Given the description of an element on the screen output the (x, y) to click on. 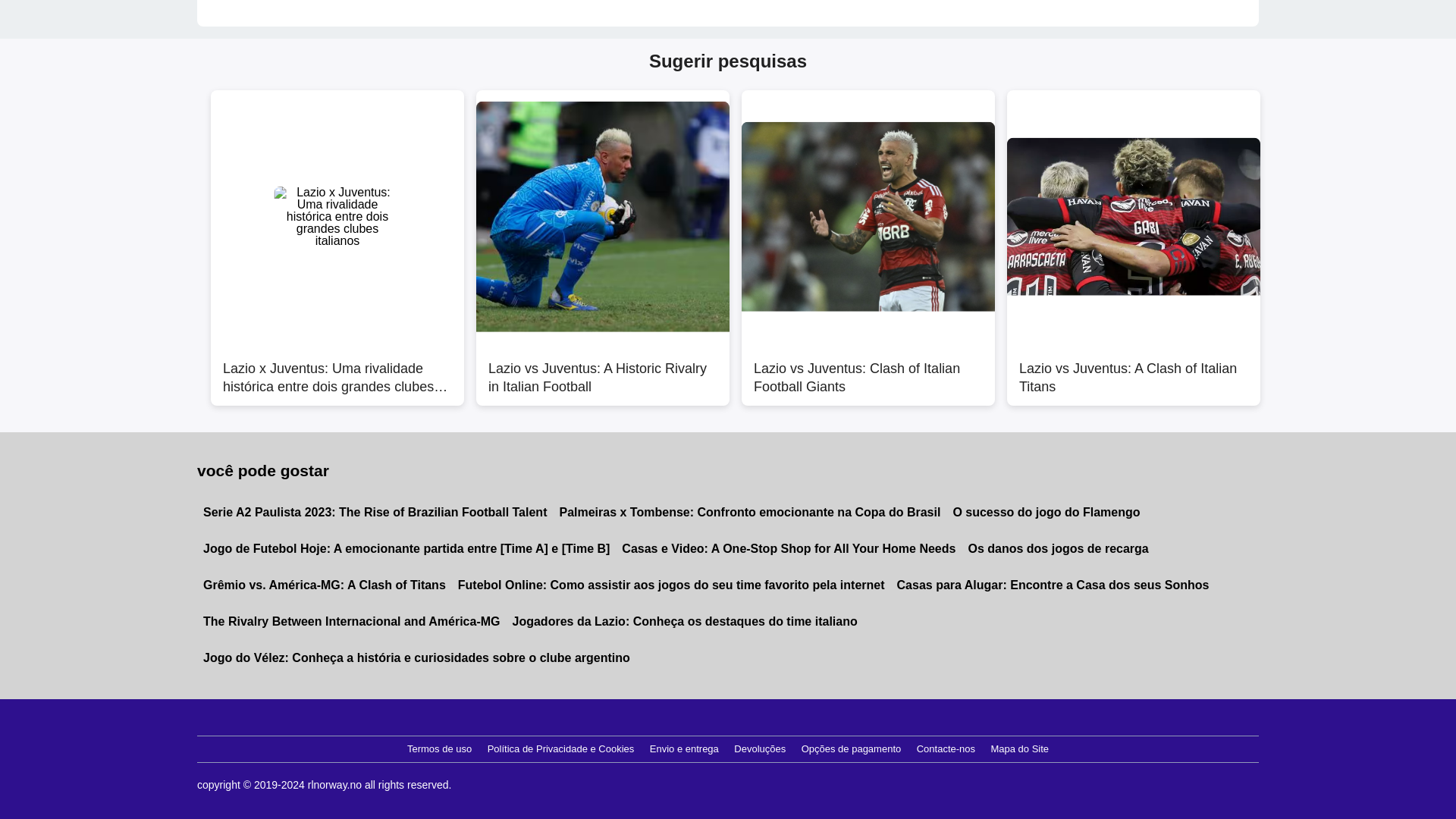
Lazio vs Juventus: Clash of Italian Football Giants (867, 369)
O sucesso do jogo do Flamengo (1045, 512)
Termos de uso (439, 749)
Casas para Alugar: Encontre a Casa dos seus Sonhos (1053, 585)
Lazio vs Juventus: A Clash of Italian Titans (1133, 369)
Lazio vs Juventus: A Historic Rivalry in Italian Football (602, 369)
Envio e entrega (684, 749)
Os danos dos jogos de recarga (1057, 548)
Casas e Video: A One-Stop Shop for All Your Home Needs (787, 548)
Contacte-nos (946, 749)
